Given the description of an element on the screen output the (x, y) to click on. 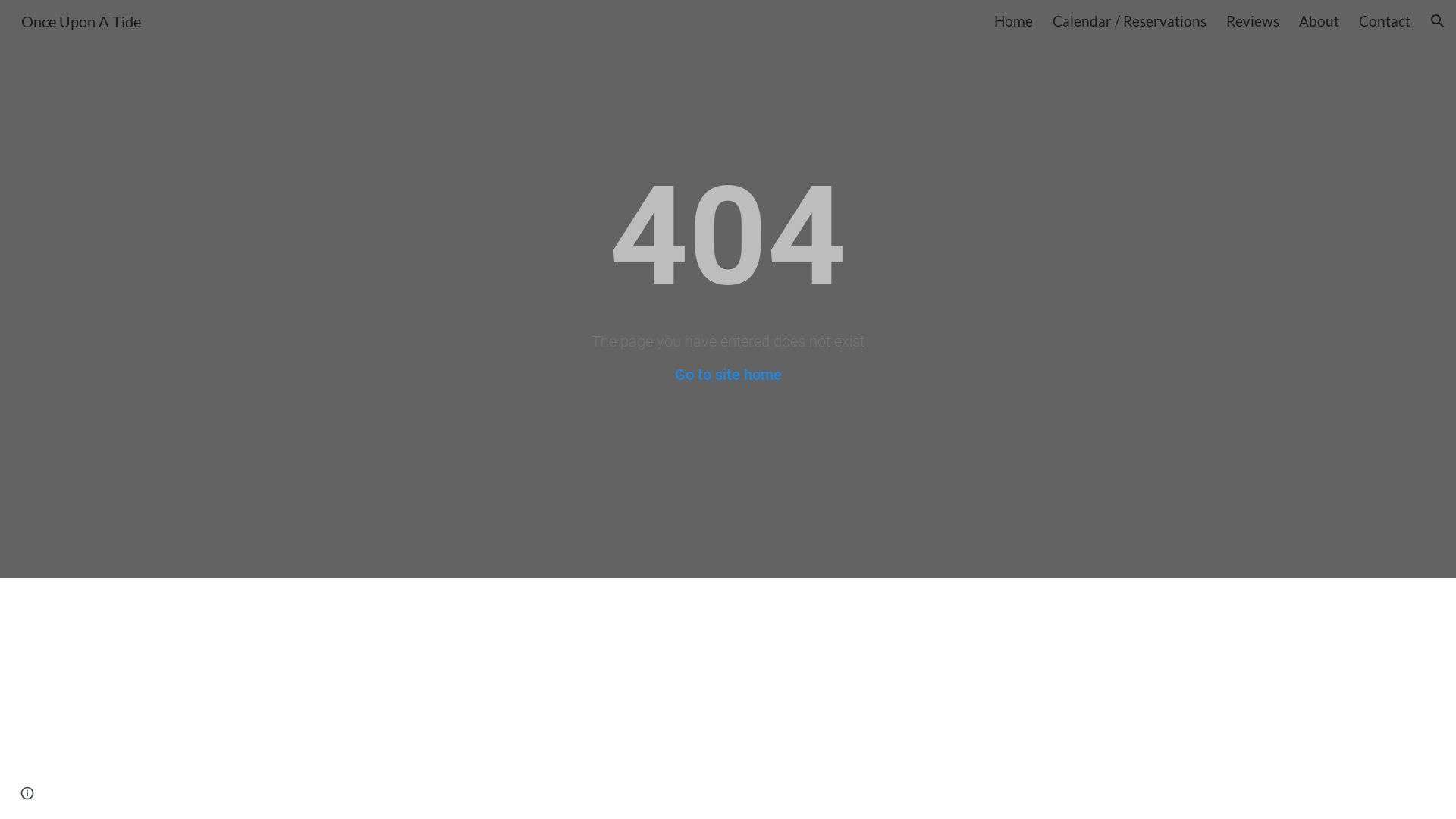
Contact Element type: text (1384, 20)
Once Upon A Tide Element type: text (81, 18)
Home Element type: text (1013, 20)
About Element type: text (1319, 20)
Calendar / Reservations Element type: text (1129, 20)
Go to site home Element type: text (727, 374)
Reviews Element type: text (1252, 20)
